Given the description of an element on the screen output the (x, y) to click on. 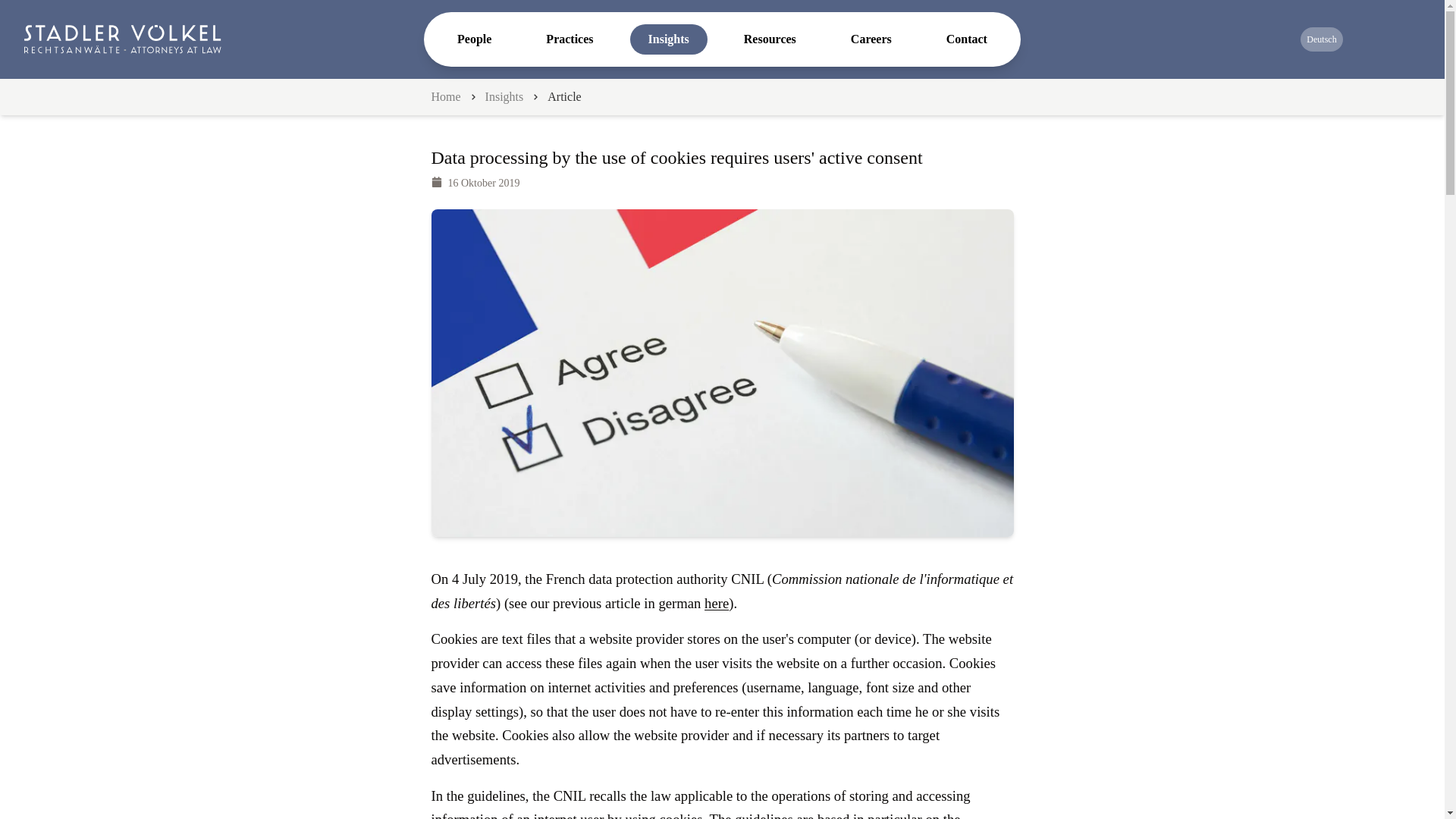
Resources (769, 39)
Insights (504, 96)
here (716, 602)
Contact (967, 39)
Careers (871, 39)
Insights (668, 39)
Practices (569, 39)
People (474, 39)
Home (445, 96)
Deutsch (1321, 39)
